Given the description of an element on the screen output the (x, y) to click on. 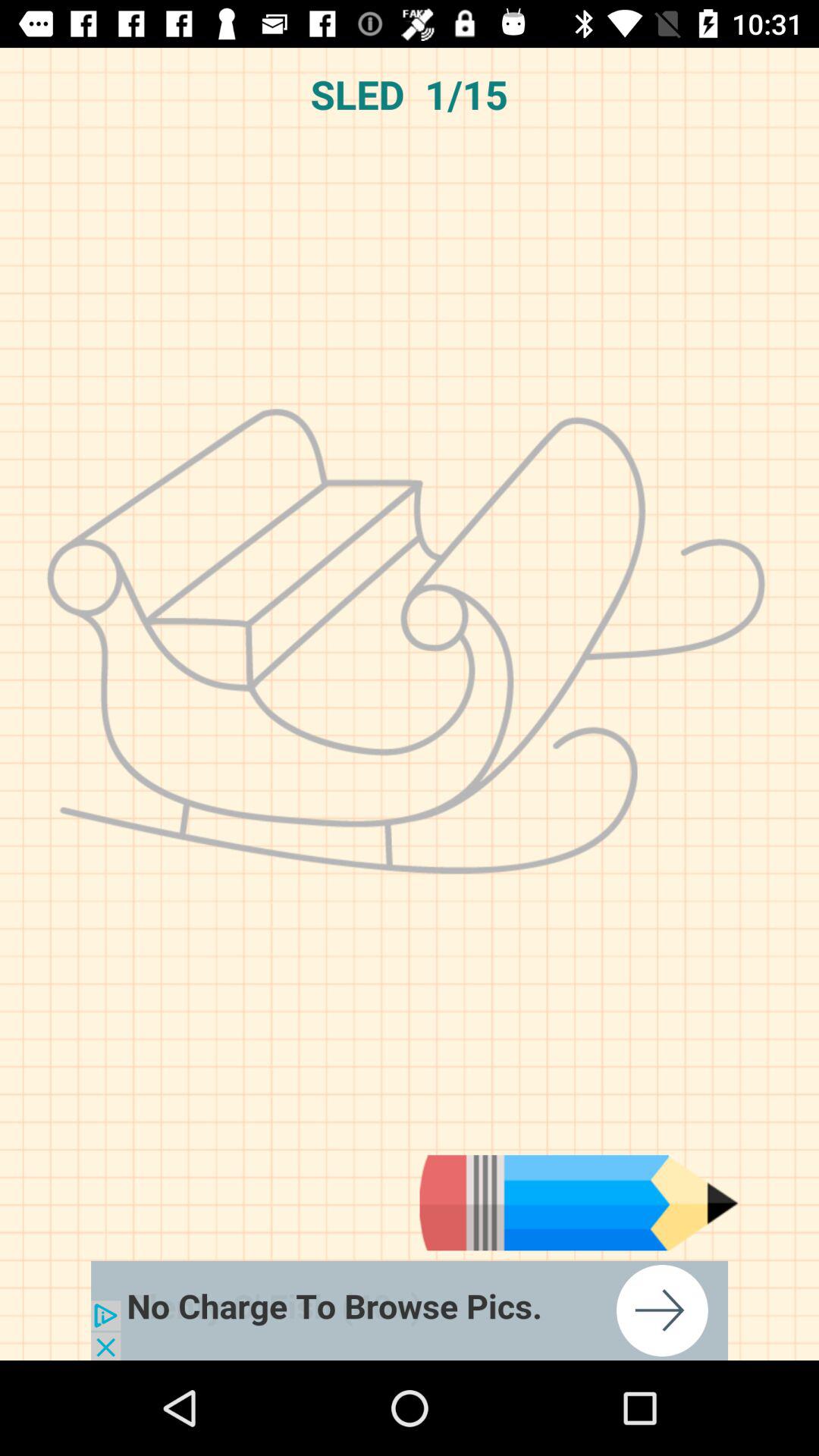
draw button (578, 1202)
